Given the description of an element on the screen output the (x, y) to click on. 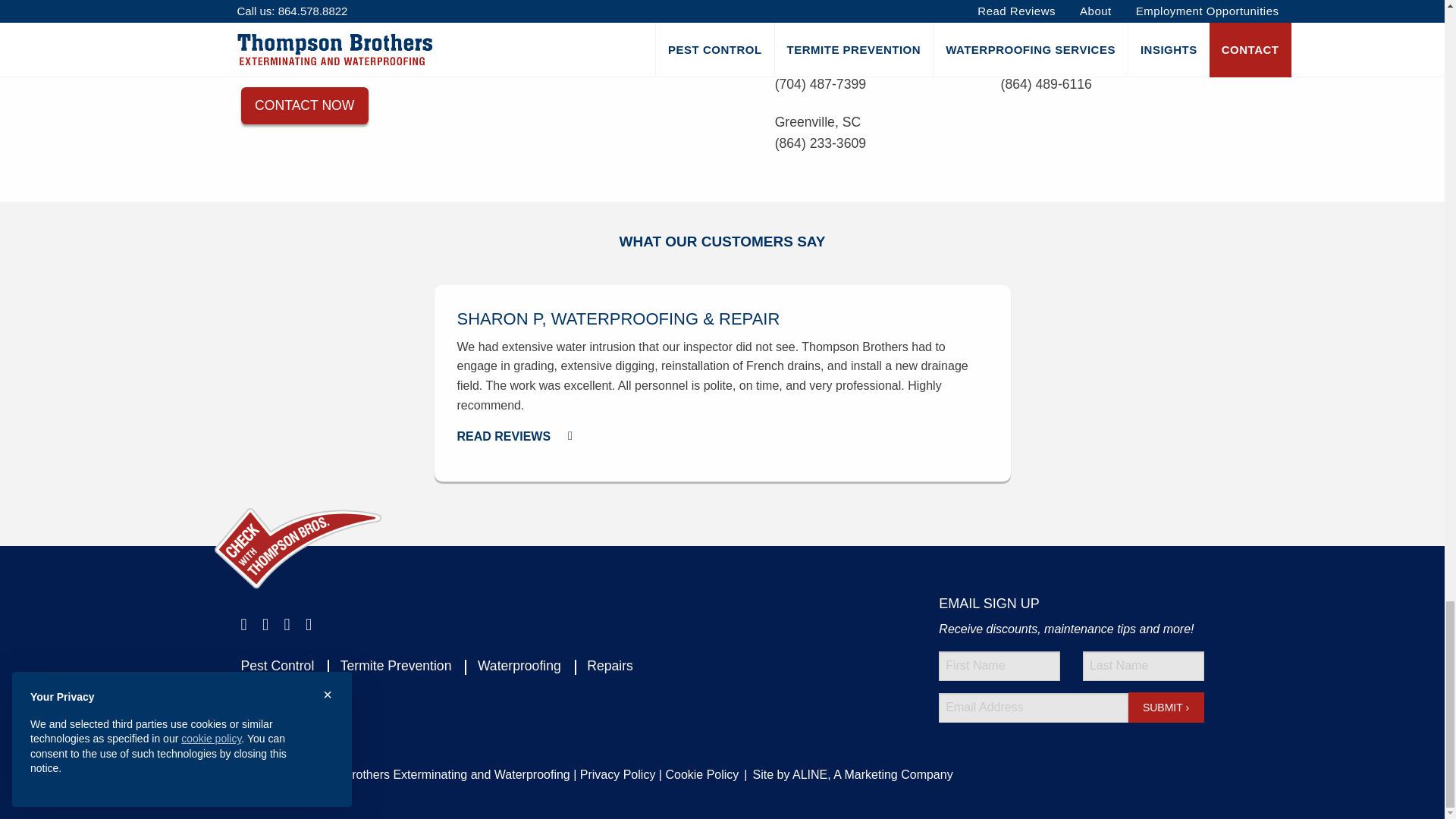
Custom Website Design (872, 774)
